Given the description of an element on the screen output the (x, y) to click on. 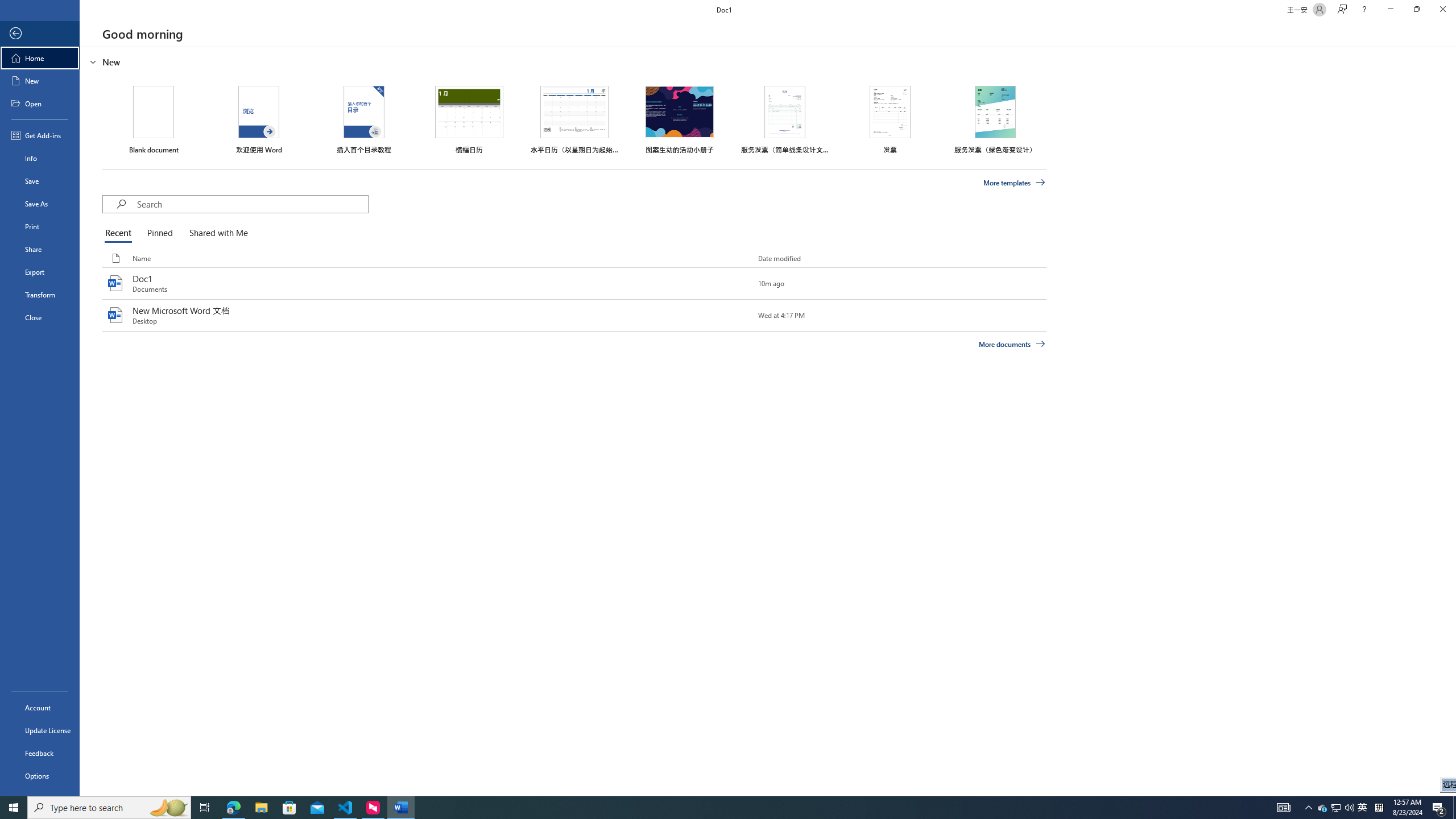
Recent (119, 233)
